Given the description of an element on the screen output the (x, y) to click on. 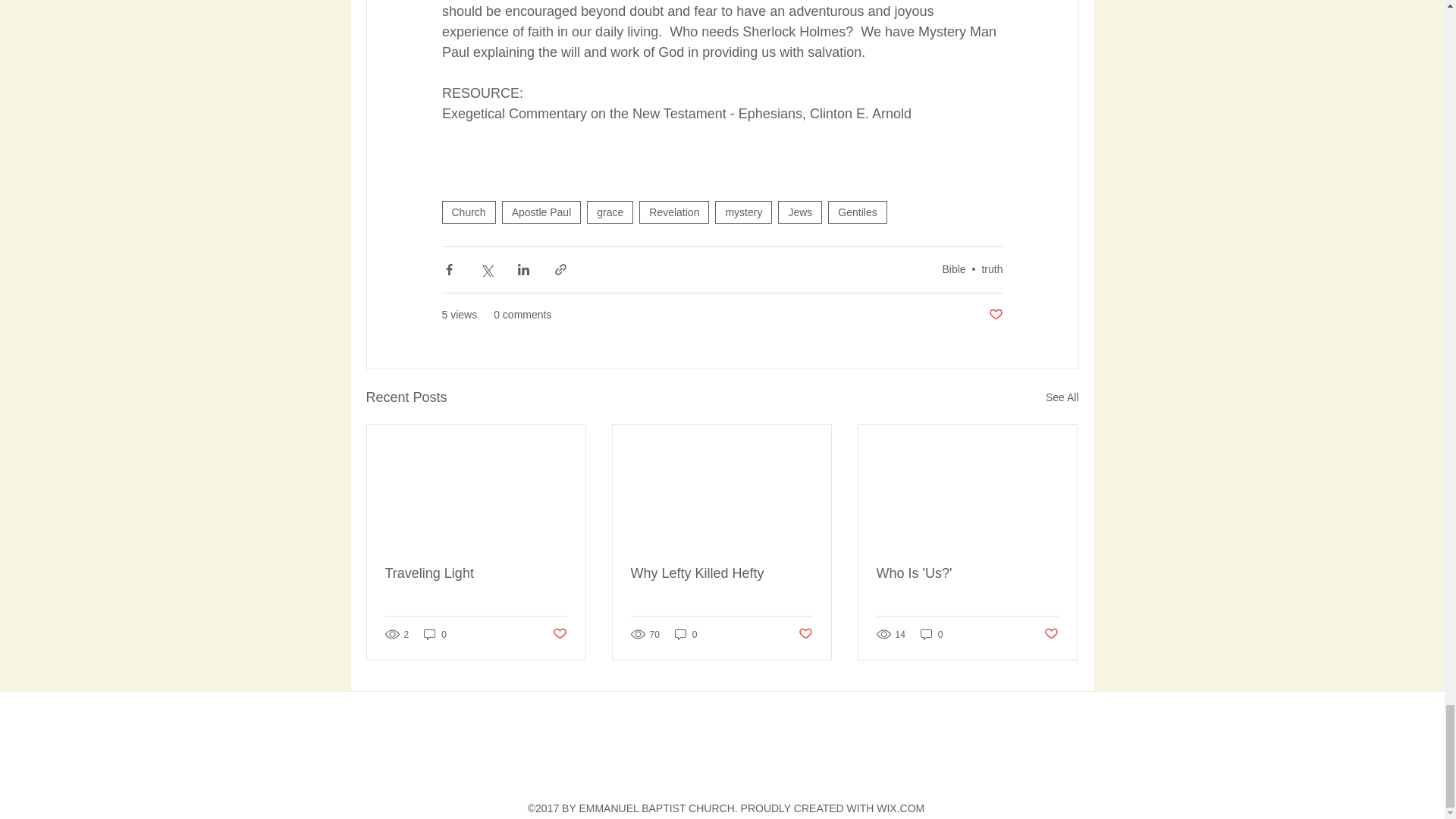
Traveling Light (476, 573)
Bible (953, 268)
grace (609, 211)
Gentiles (857, 211)
0 (435, 634)
Post not marked as liked (558, 634)
0 (685, 634)
mystery (742, 211)
Jews (799, 211)
Post not marked as liked (995, 314)
Revelation (674, 211)
Church (468, 211)
See All (1061, 397)
Apostle Paul (541, 211)
Post not marked as liked (804, 634)
